Given the description of an element on the screen output the (x, y) to click on. 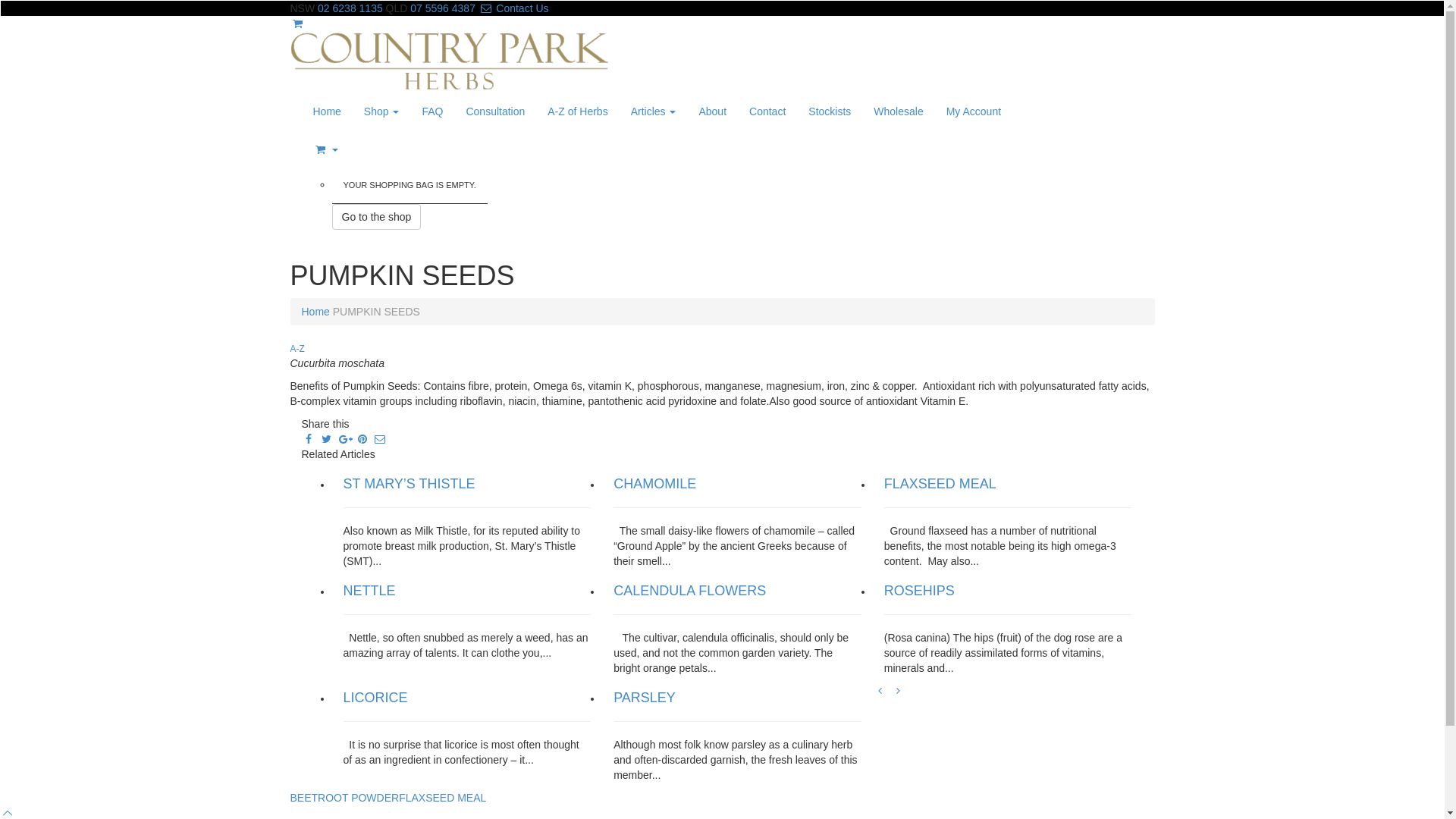
View cart Element type: hover (296, 23)
LICORICE Element type: text (374, 697)
BEETROOT POWDER Element type: text (343, 797)
CHAMOMILE Element type: text (654, 483)
PARSLEY Element type: text (644, 697)
Consultation Element type: text (495, 111)
FLAXSEED MEAL Element type: text (940, 483)
Home Element type: text (315, 311)
My Account Element type: text (973, 111)
Articles Element type: text (653, 111)
About Element type: text (712, 111)
A-Z Element type: text (296, 348)
Shop Element type: text (381, 111)
A-Z of Herbs Element type: text (577, 111)
ROSEHIPS Element type: text (919, 590)
View cart Element type: hover (394, 149)
Wholesale Element type: text (898, 111)
Stockists Element type: text (829, 111)
FAQ Element type: text (432, 111)
Contact Us Element type: text (513, 8)
Contact Element type: text (767, 111)
02 6238 1135 Element type: text (349, 8)
Home Element type: text (326, 111)
Go to the shop Element type: text (376, 216)
07 5596 4387 Element type: text (442, 8)
FLAXSEED MEAL Element type: text (442, 797)
CALENDULA FLOWERS Element type: text (689, 590)
Country Park Element type: hover (448, 61)
NETTLE Element type: text (368, 590)
